Given the description of an element on the screen output the (x, y) to click on. 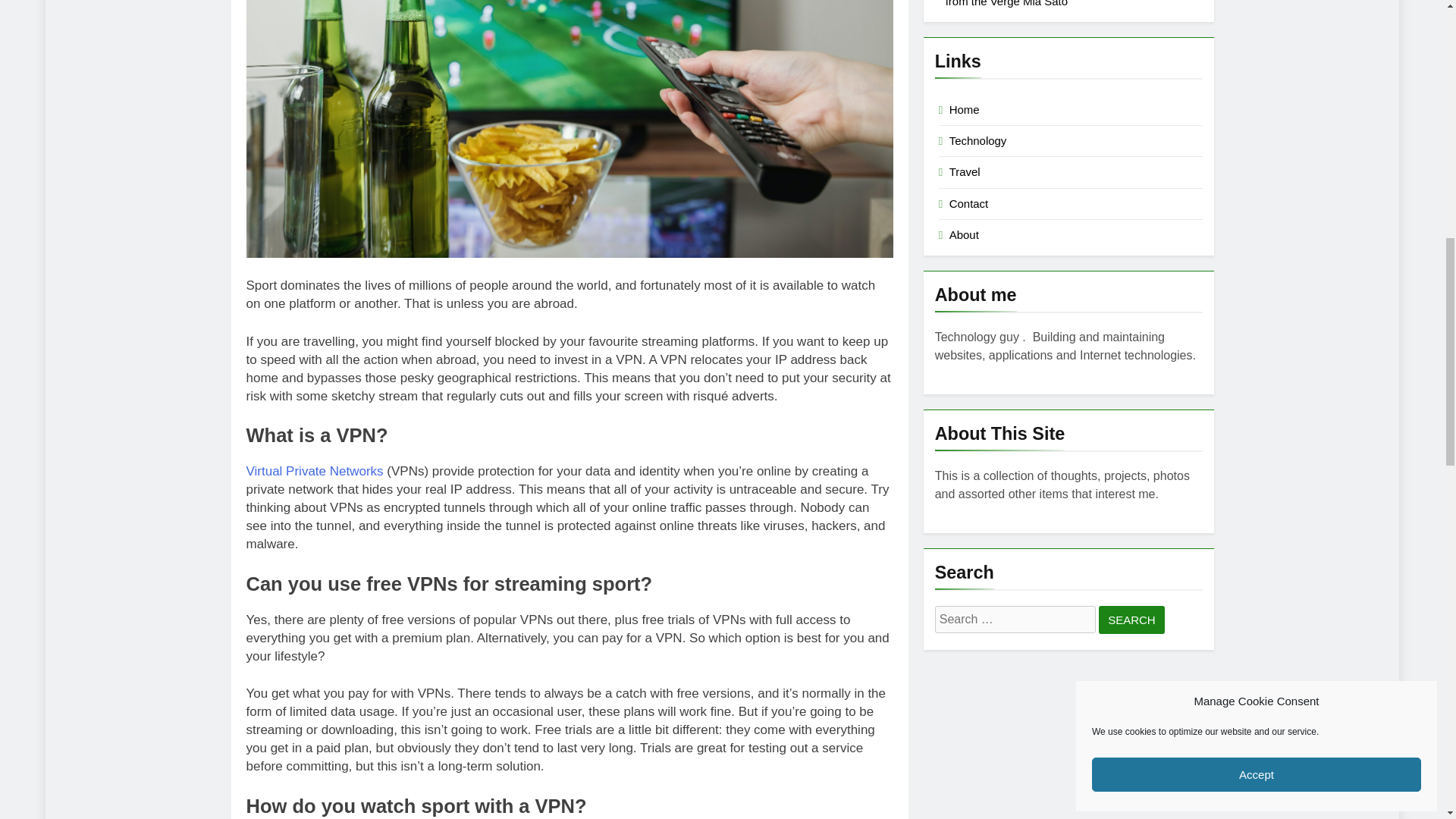
Search (1131, 619)
Search (1131, 619)
